Given the description of an element on the screen output the (x, y) to click on. 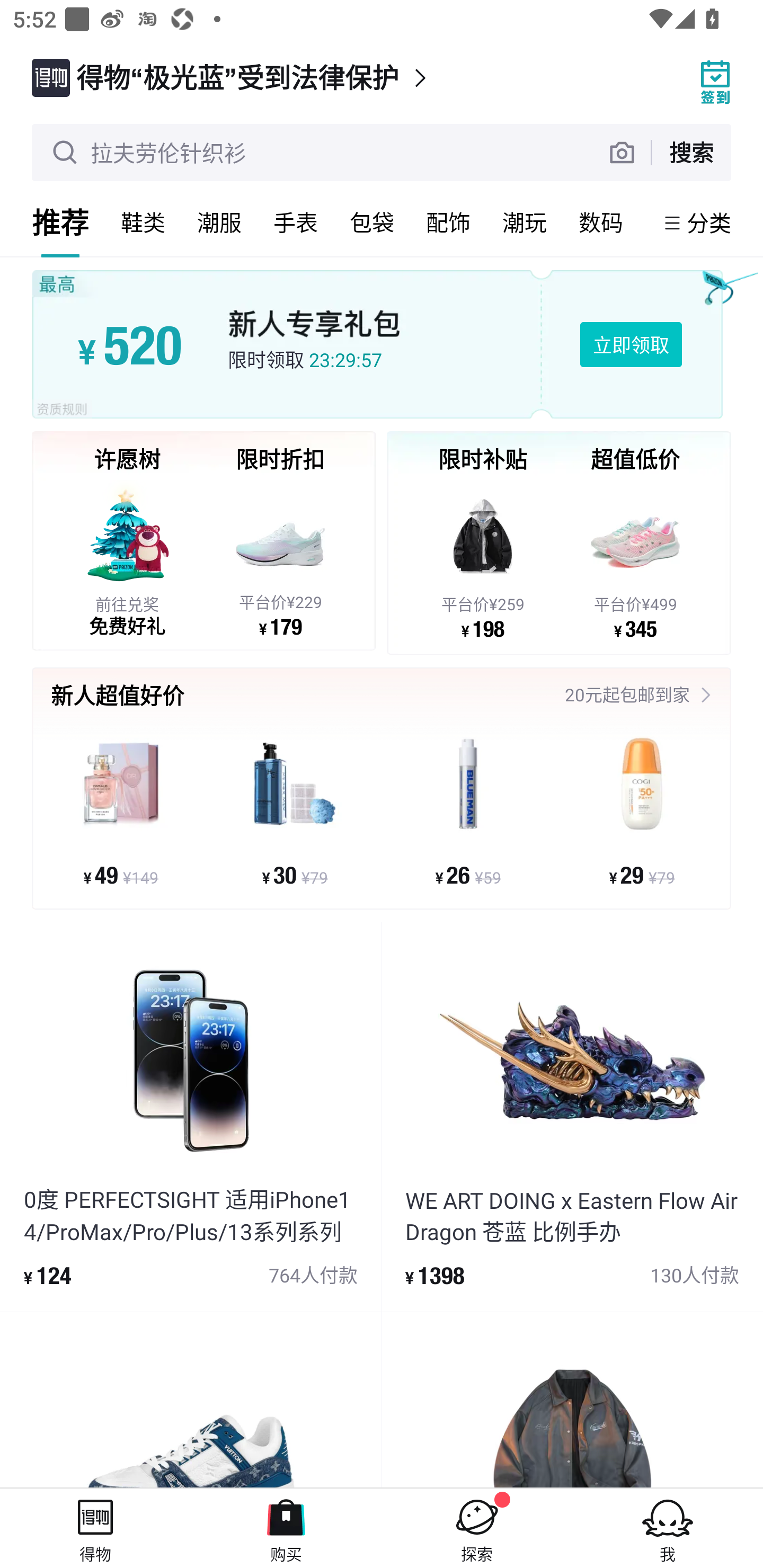
搜索 (690, 152)
推荐 (60, 222)
鞋类 (143, 222)
潮服 (219, 222)
手表 (295, 222)
包袋 (372, 222)
配饰 (448, 222)
潮玩 (524, 222)
数码 (601, 222)
分类 (708, 222)
立即领取 (630, 343)
平台价¥229 ¥ 179 (279, 557)
前往兑奖 免费好礼 (127, 558)
平台价¥259 ¥ 198 (482, 559)
平台价¥499 ¥ 345 (635, 559)
¥ 49 ¥149 (121, 811)
¥ 30 ¥79 (294, 811)
¥ 26 ¥59 (468, 811)
¥ 29 ¥79 (641, 811)
product_item (572, 1400)
得物 (95, 1528)
购买 (285, 1528)
探索 (476, 1528)
我 (667, 1528)
